Given the description of an element on the screen output the (x, y) to click on. 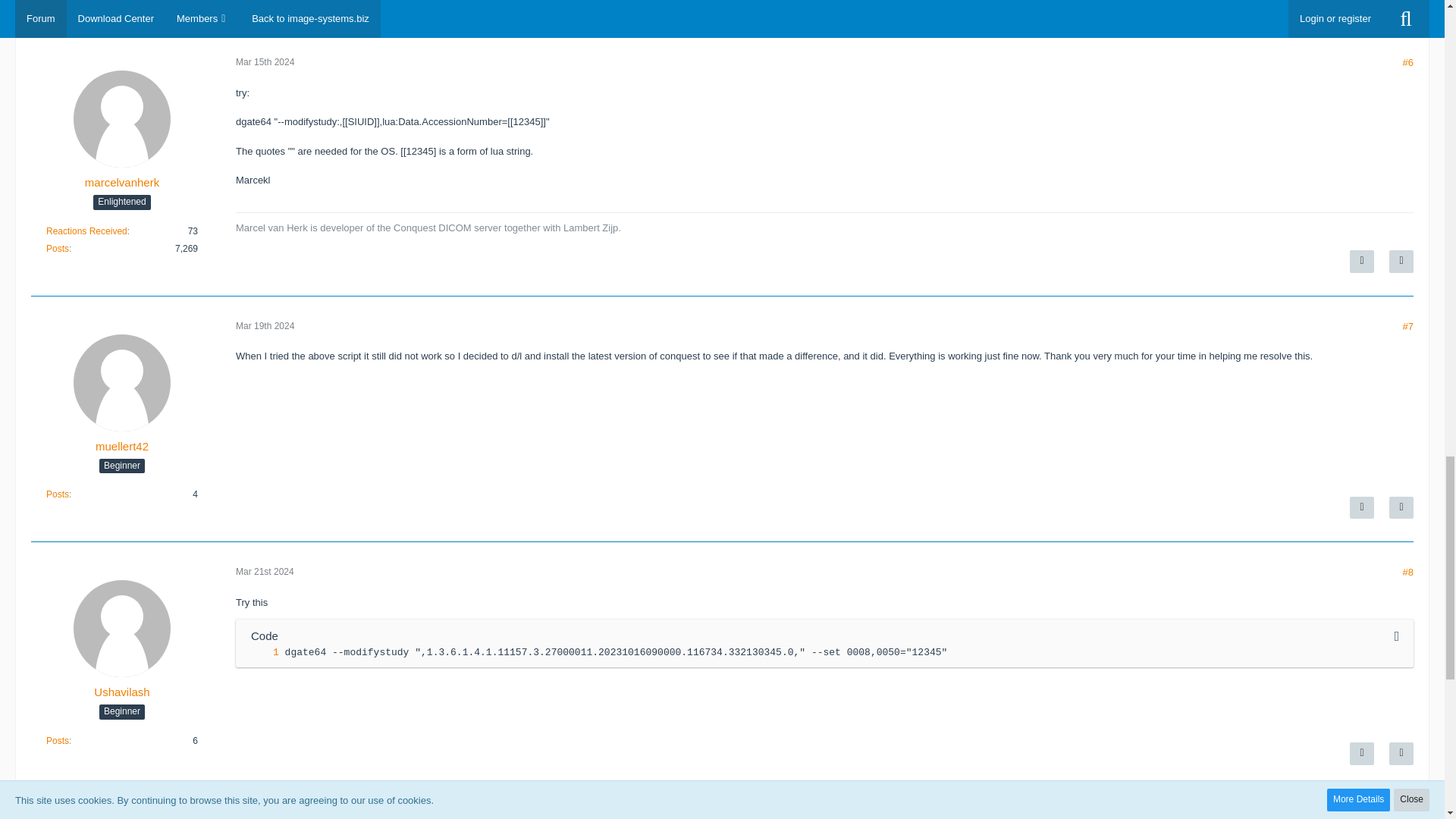
1 (261, 652)
